Given the description of an element on the screen output the (x, y) to click on. 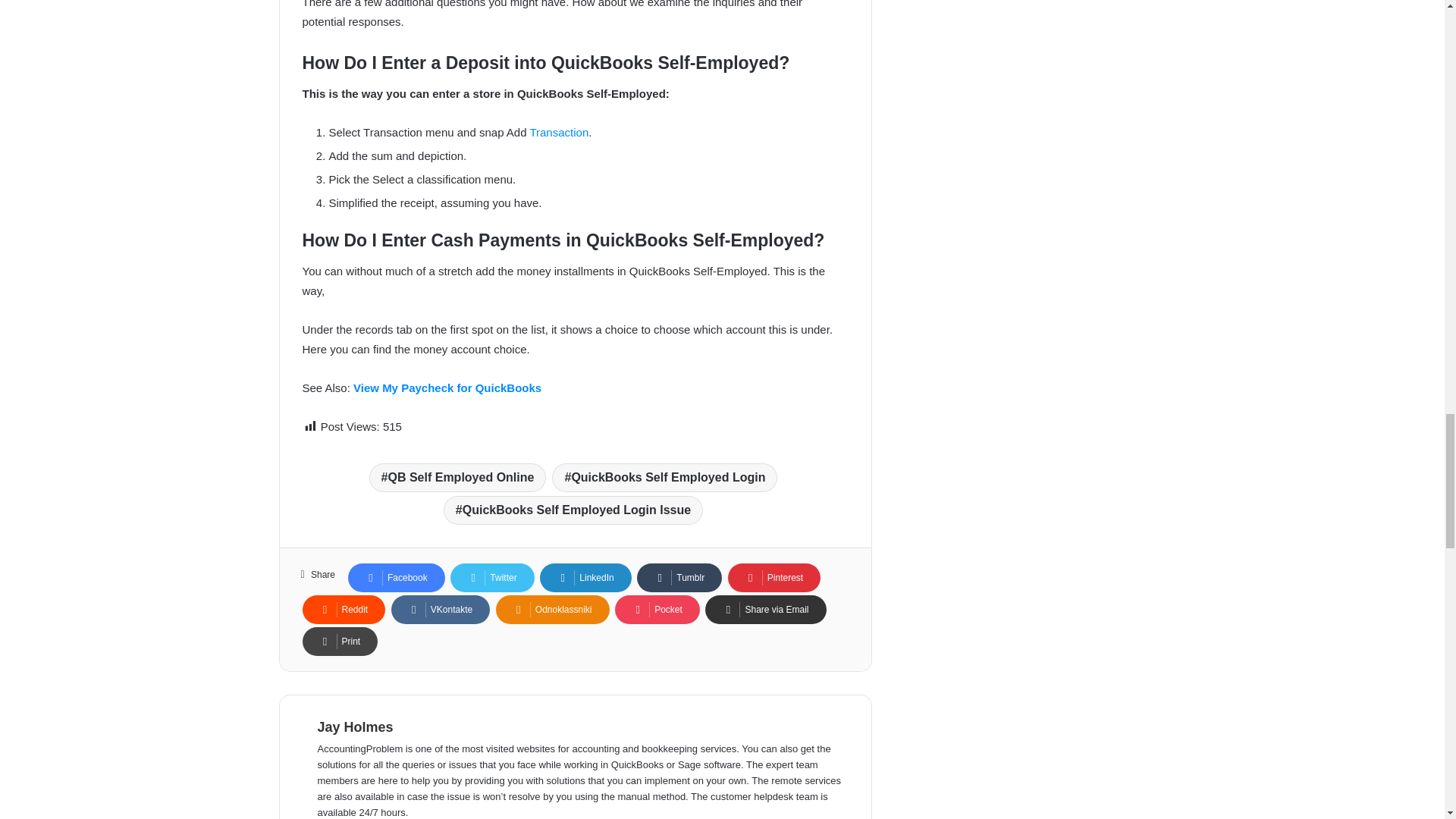
VKontakte (440, 609)
Pinterest (774, 577)
Odnoklassniki (553, 609)
QuickBooks Self Employed Login Issue (573, 510)
QB Self Employed Online (458, 477)
Transaction (558, 132)
Tumblr (679, 577)
Facebook (396, 577)
Twitter (491, 577)
Twitter (491, 577)
QuickBooks Self Employed Login (664, 477)
View My Paycheck for QuickBooks (447, 387)
Facebook (396, 577)
LinkedIn (585, 577)
Reddit (343, 609)
